Given the description of an element on the screen output the (x, y) to click on. 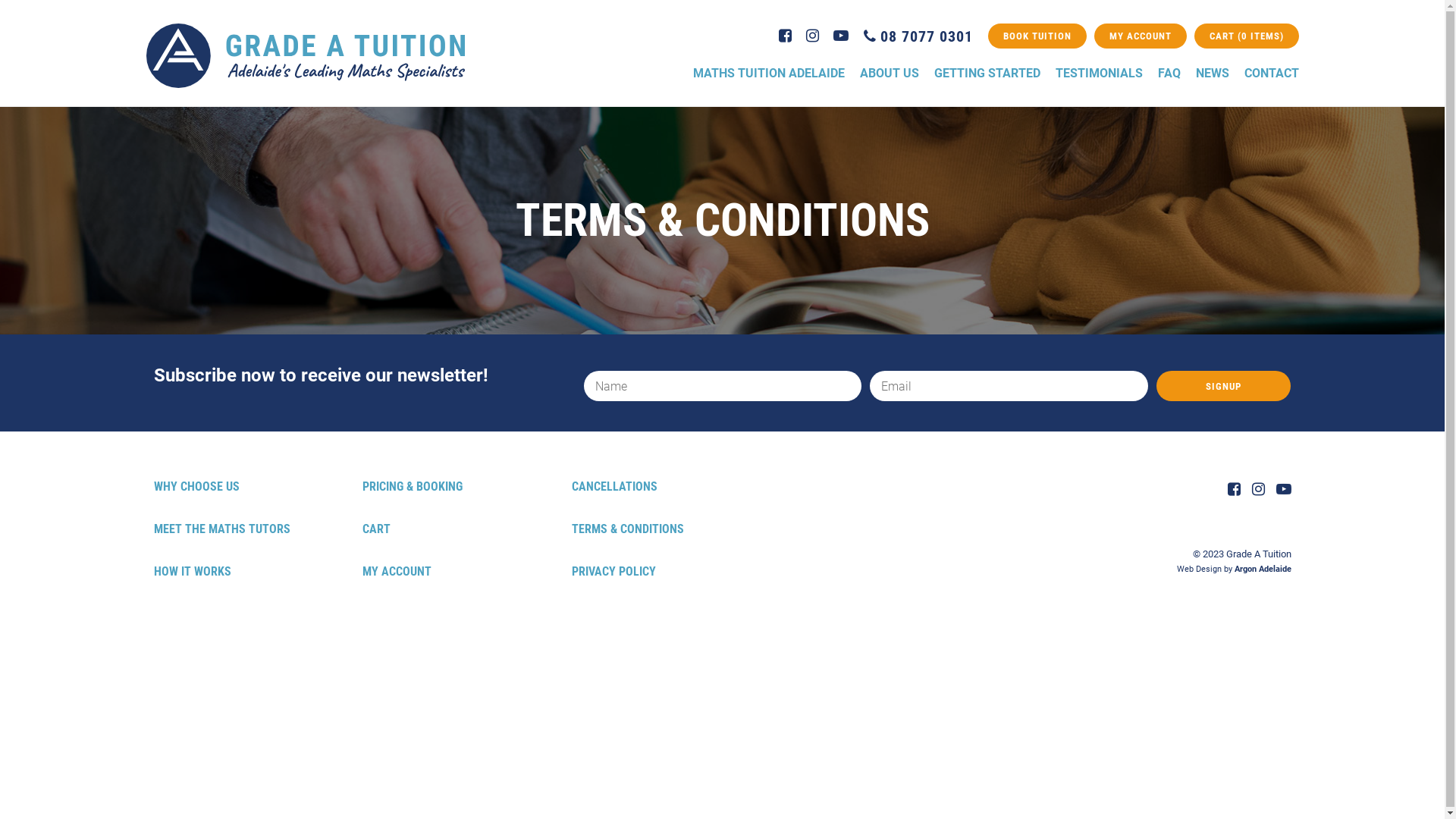
Signup Element type: text (1223, 385)
TESTIMONIALS Element type: text (1098, 72)
08 7077 0301 Element type: text (920, 35)
WHY CHOOSE US Element type: text (195, 486)
MEET THE MATHS TUTORS Element type: text (221, 528)
CART (0 ITEMS) Element type: text (1245, 35)
Argon Adelaide Element type: text (1262, 569)
PRIVACY POLICY Element type: text (613, 571)
CART Element type: text (376, 528)
MATHS TUITION ADELAIDE Element type: text (768, 72)
HOW IT WORKS Element type: text (191, 571)
FAQ Element type: text (1168, 72)
TERMS & CONDITIONS Element type: text (627, 528)
CANCELLATIONS Element type: text (614, 486)
NEWS Element type: text (1211, 72)
GETTING STARTED Element type: text (987, 72)
BOOK TUITION Element type: text (1036, 35)
MY ACCOUNT Element type: text (1139, 35)
MY ACCOUNT Element type: text (396, 571)
PRICING & BOOKING Element type: text (412, 486)
ABOUT US Element type: text (889, 72)
CONTACT Element type: text (1270, 72)
